Given the description of an element on the screen output the (x, y) to click on. 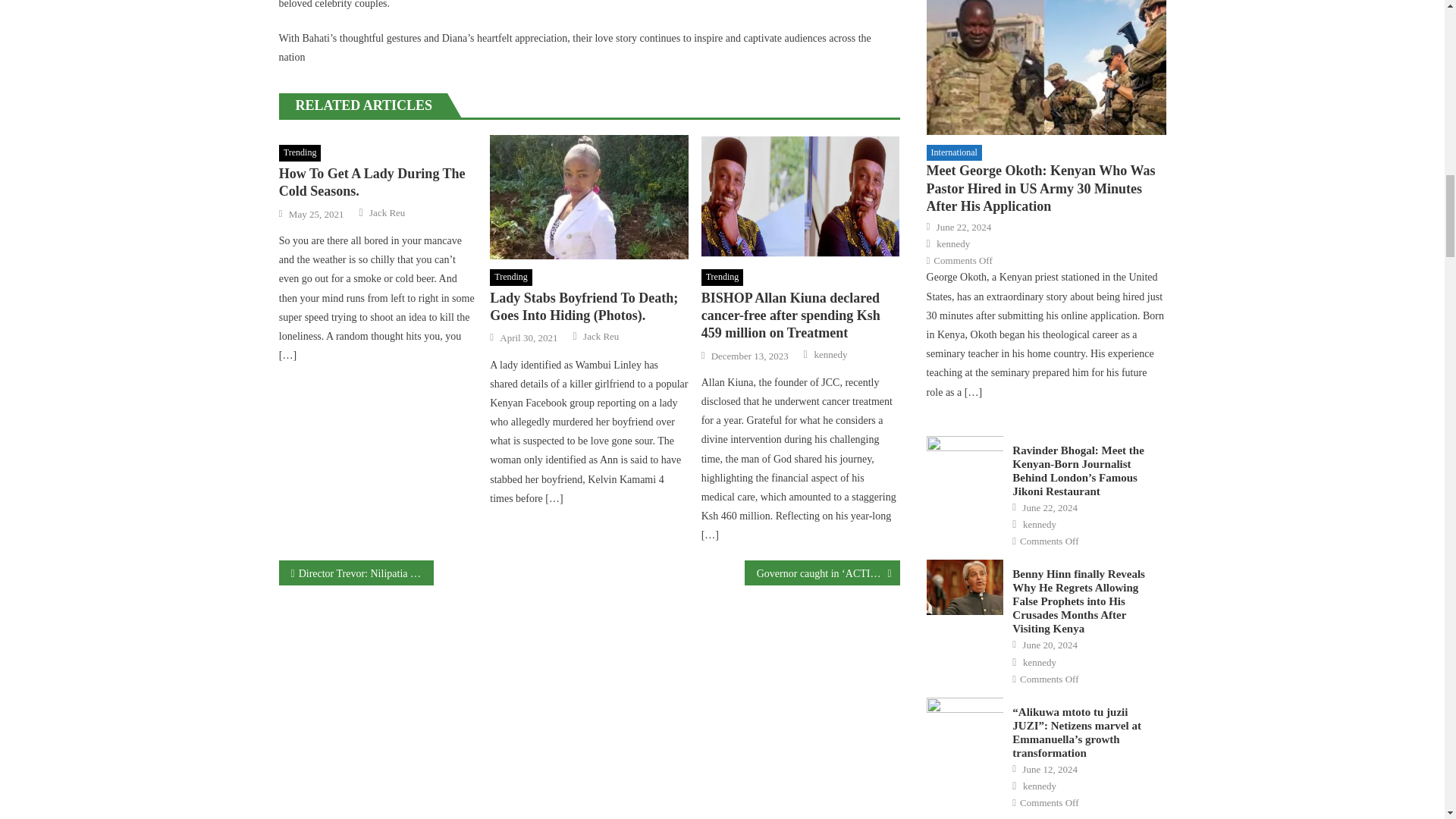
Trending (510, 277)
May 25, 2021 (315, 214)
Trending (722, 277)
April 30, 2021 (528, 337)
Trending (300, 152)
Jack Reu (600, 336)
December 13, 2023 (750, 356)
